Given the description of an element on the screen output the (x, y) to click on. 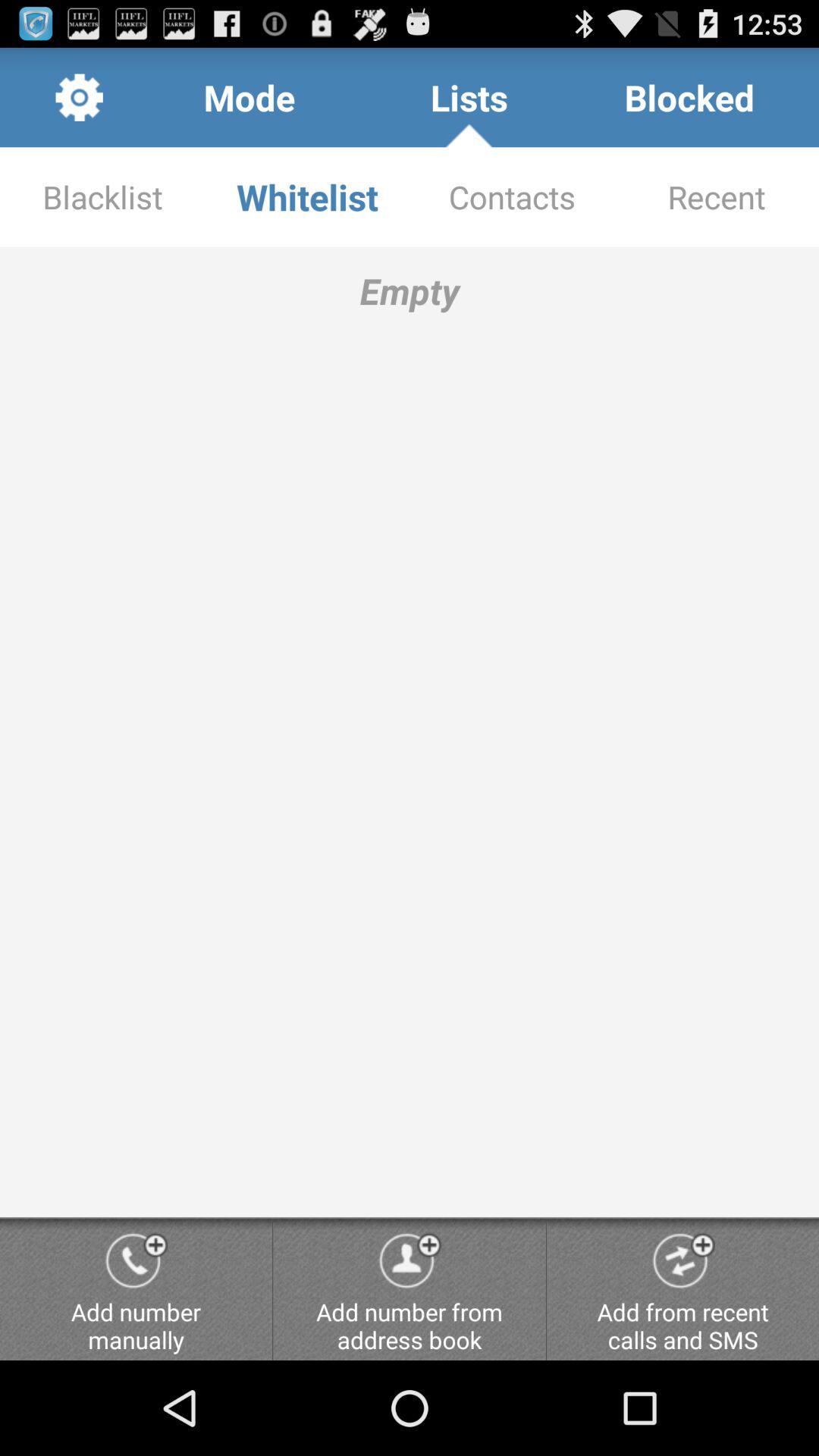
choose item to the right of the blacklist app (306, 196)
